Given the description of an element on the screen output the (x, y) to click on. 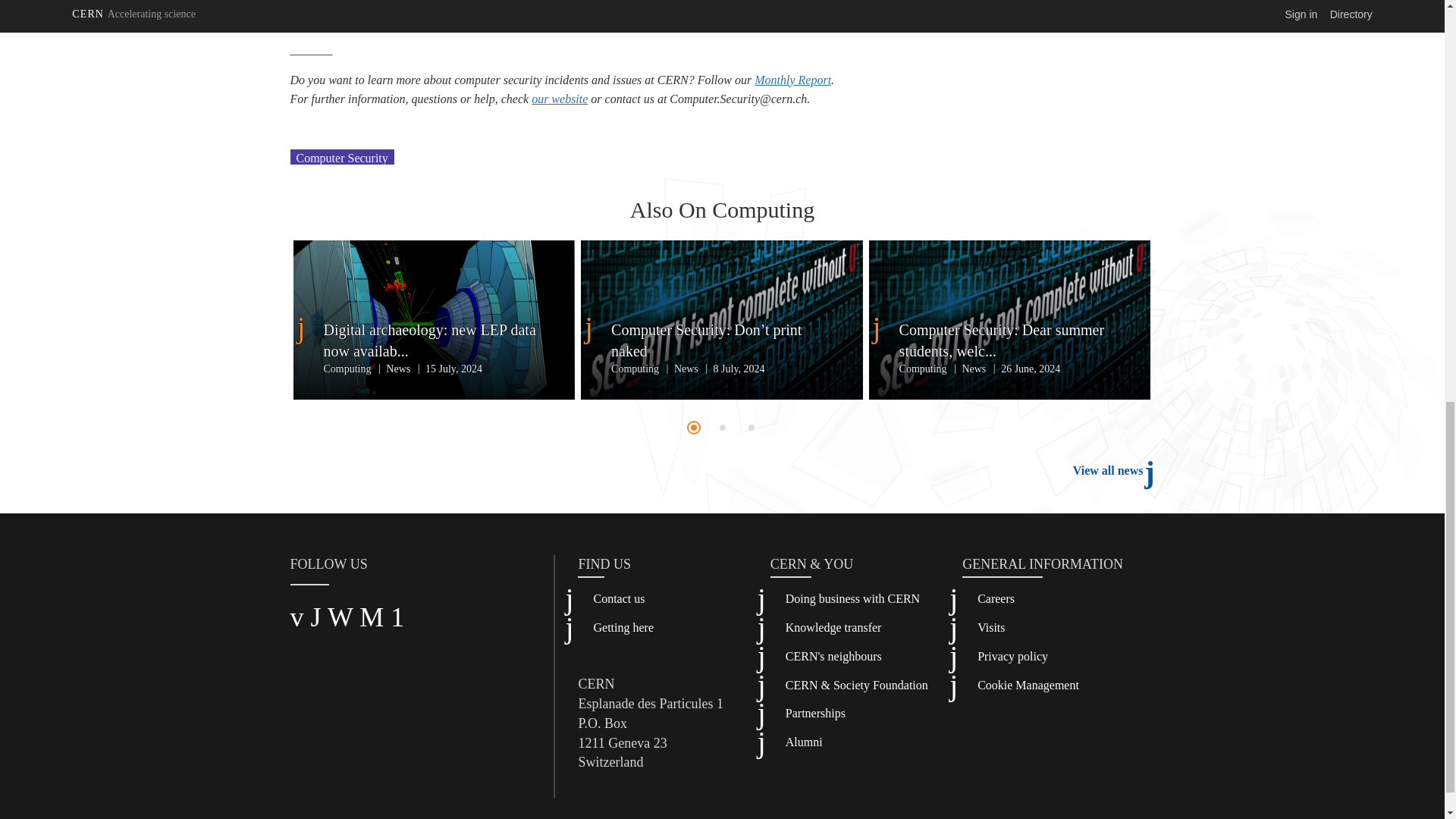
Computer Security: Dear summer students, welcome! (1010, 340)
Digital archaeology: new LEP data now available to all (433, 340)
